Given the description of an element on the screen output the (x, y) to click on. 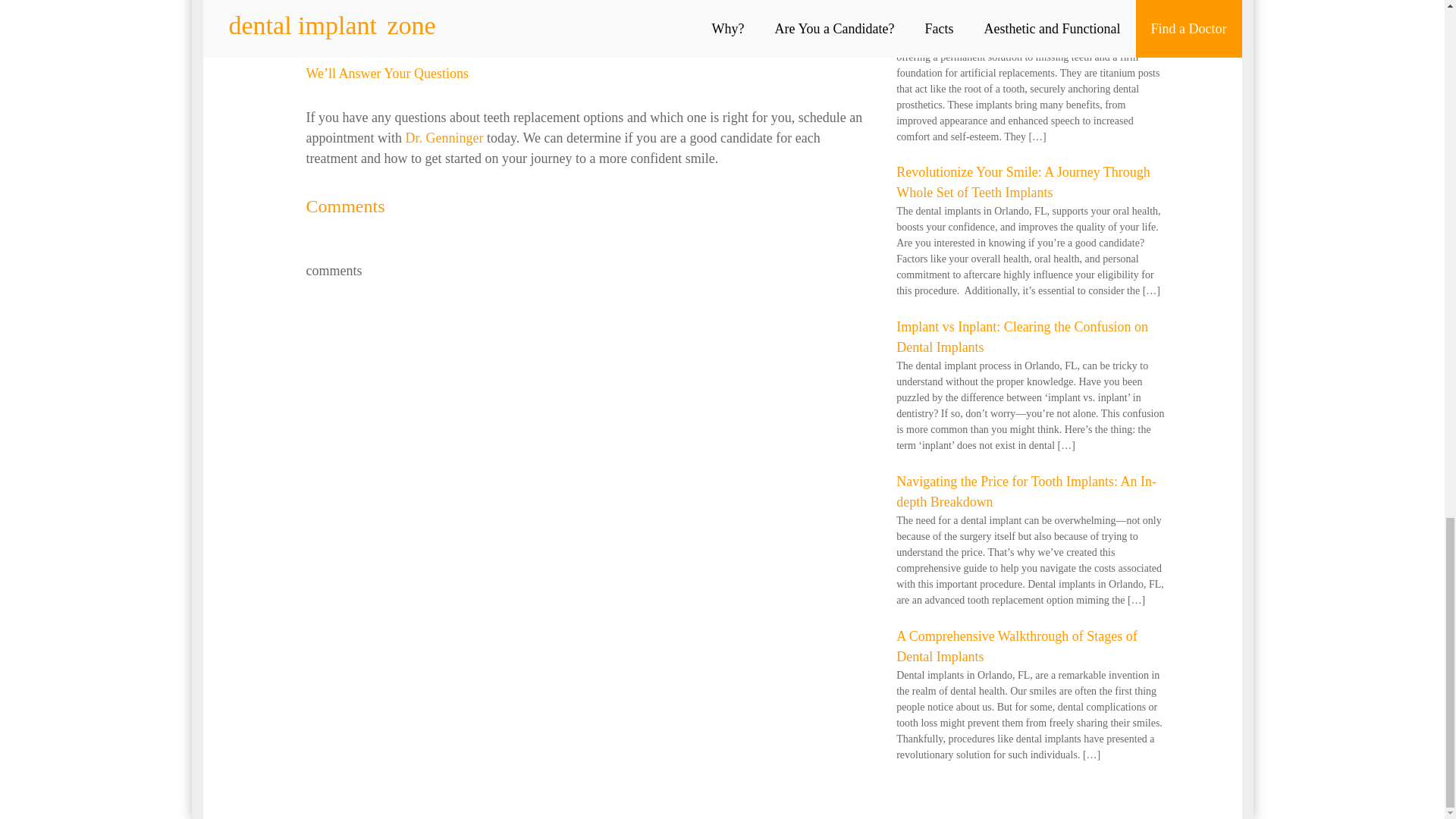
Dr. Genninger (443, 137)
A Comprehensive Walkthrough of Stages of Dental Implants (1016, 646)
